Given the description of an element on the screen output the (x, y) to click on. 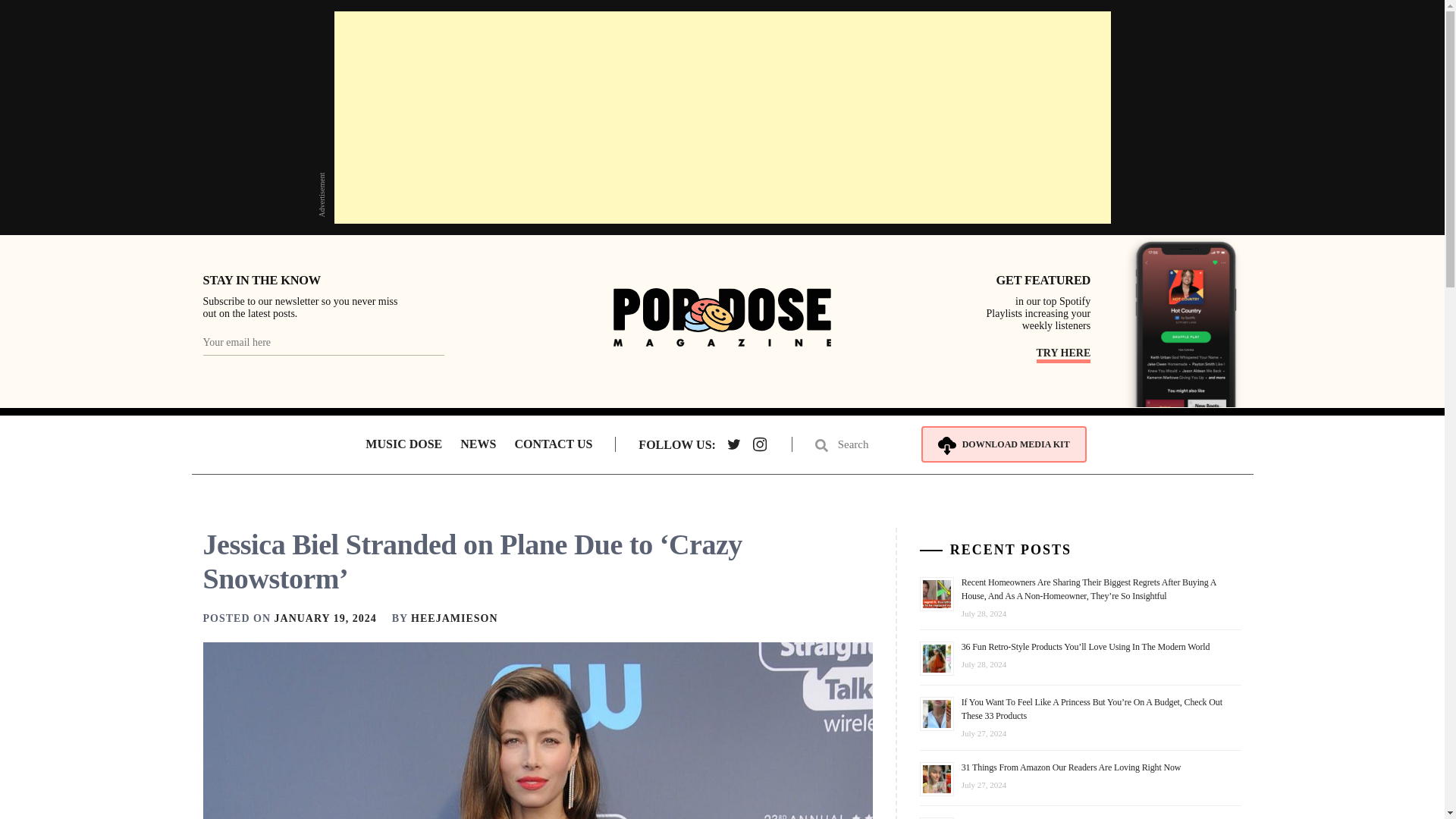
NEWS (478, 444)
JANUARY 19, 2024 (326, 618)
31 Things From Amazon Our Readers Are Loving Right Now (1070, 767)
TRY HERE (1062, 355)
CONTACT US (552, 444)
MUSIC DOSE (403, 444)
HEEJAMIESON (453, 618)
Twitter (733, 443)
Instagram (759, 443)
DOWNLOAD MEDIA KIT (1003, 443)
